Given the description of an element on the screen output the (x, y) to click on. 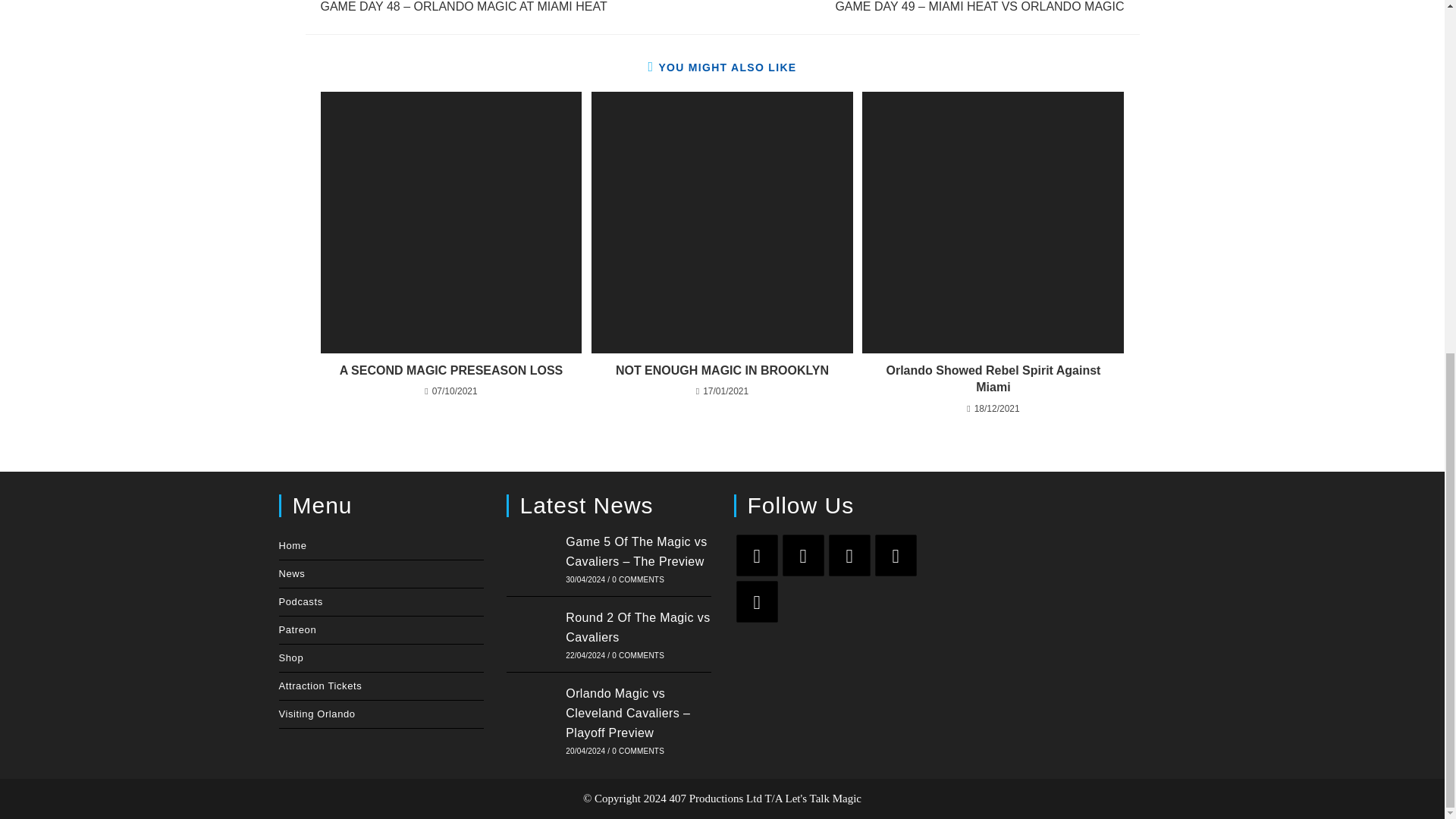
Round 2 Of The Magic vs Cavaliers (531, 634)
A SECOND MAGIC PRESEASON LOSS (450, 370)
